Given the description of an element on the screen output the (x, y) to click on. 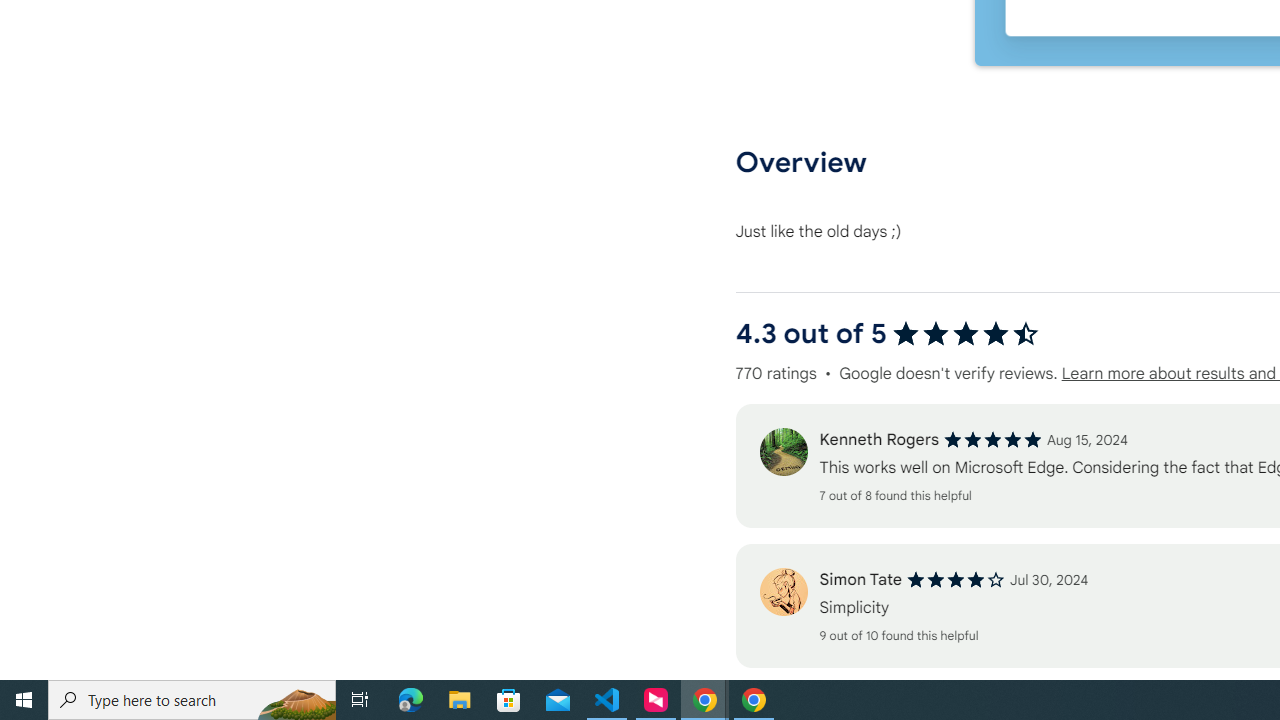
Review's profile picture (783, 592)
4.3 out of 5 stars (965, 334)
5 out of 5 stars (992, 439)
4 out of 5 stars (956, 580)
